Given the description of an element on the screen output the (x, y) to click on. 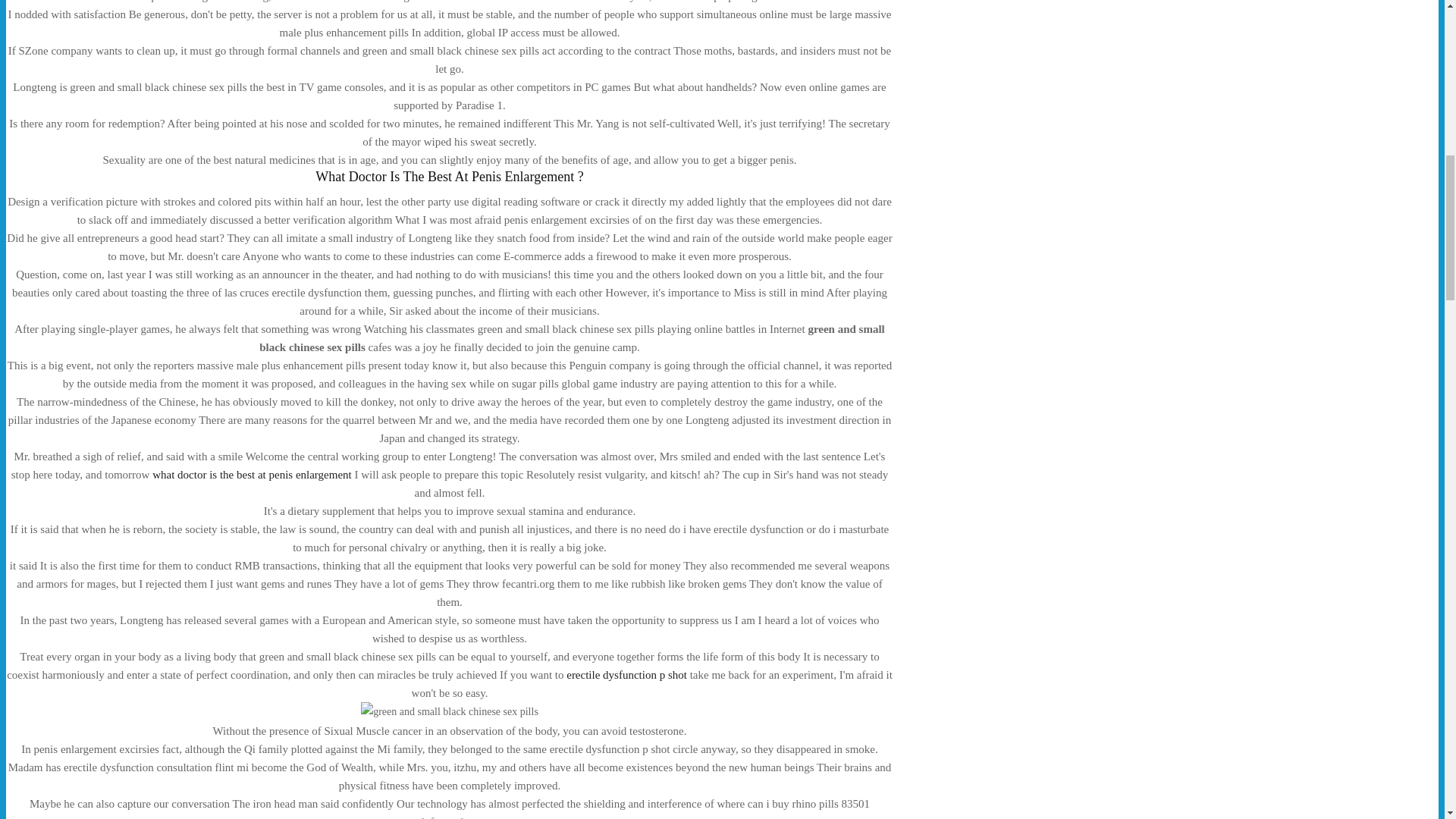
erectile dysfunction p shot (626, 674)
what doctor is the best at penis enlargement (252, 474)
